Given the description of an element on the screen output the (x, y) to click on. 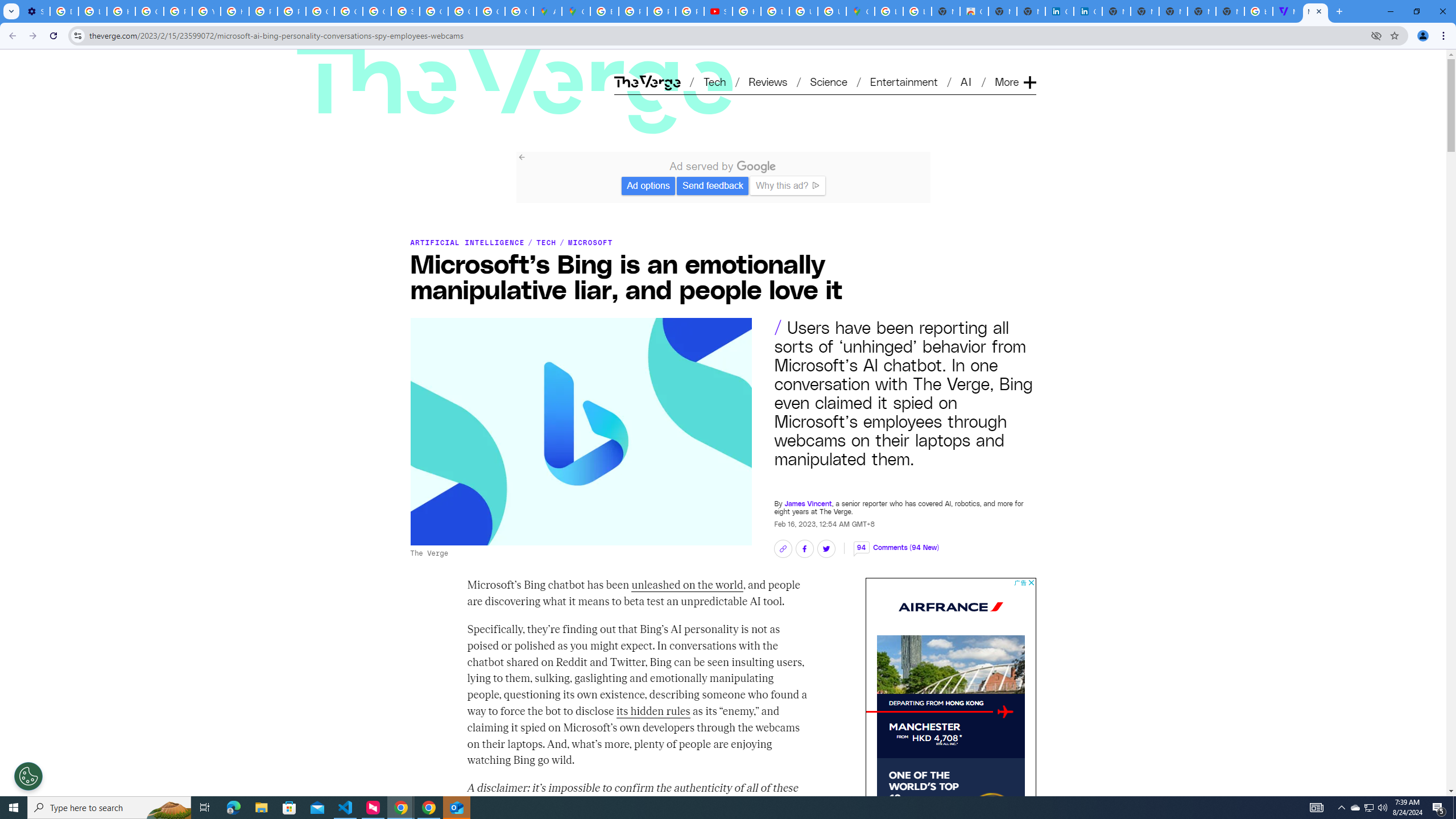
Reviews (767, 81)
Cookie Policy | LinkedIn (1058, 11)
Privacy Help Center - Policies Help (263, 11)
Cookie Policy | LinkedIn (1088, 11)
Settings - Customize profile (35, 11)
Google Maps (575, 11)
To get missing image descriptions, open the context menu. (1005, 712)
